Given the description of an element on the screen output the (x, y) to click on. 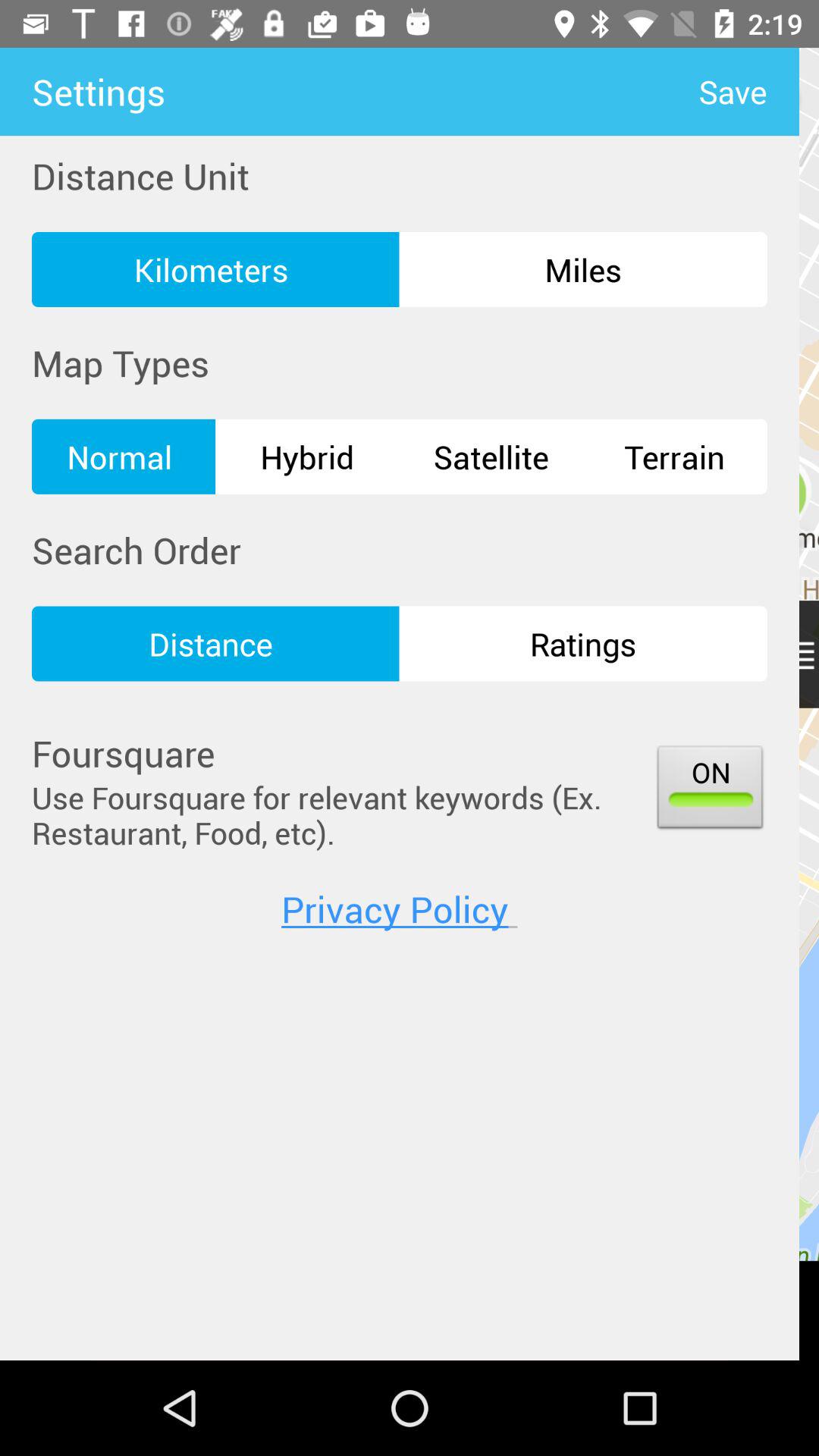
select icon to the right of the hybrid icon (490, 456)
